Given the description of an element on the screen output the (x, y) to click on. 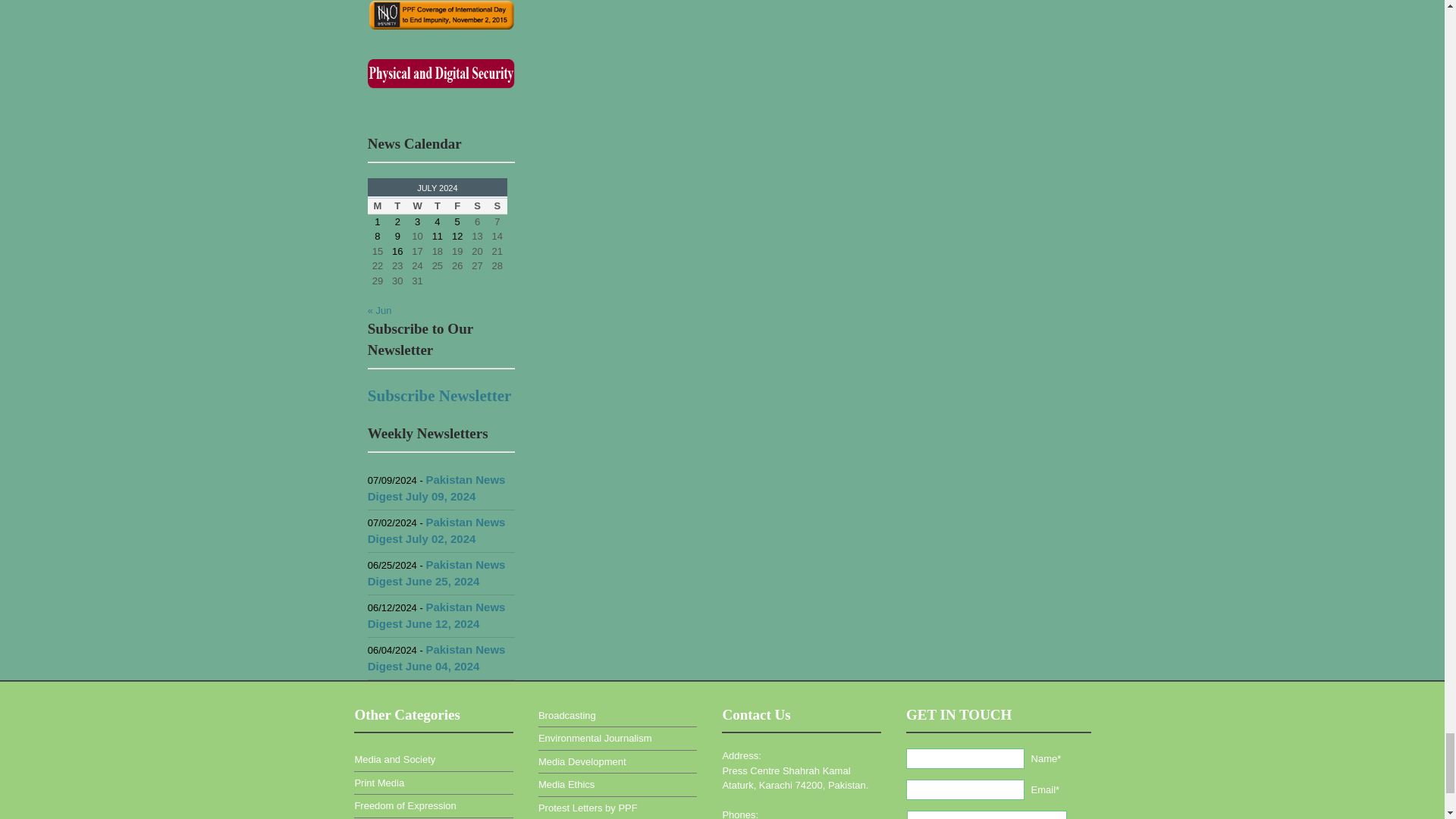
Monday (377, 206)
Friday (456, 206)
Sunday (496, 206)
Thursday (437, 206)
Wednesday (416, 206)
Saturday (476, 206)
Tuesday (397, 206)
